Given the description of an element on the screen output the (x, y) to click on. 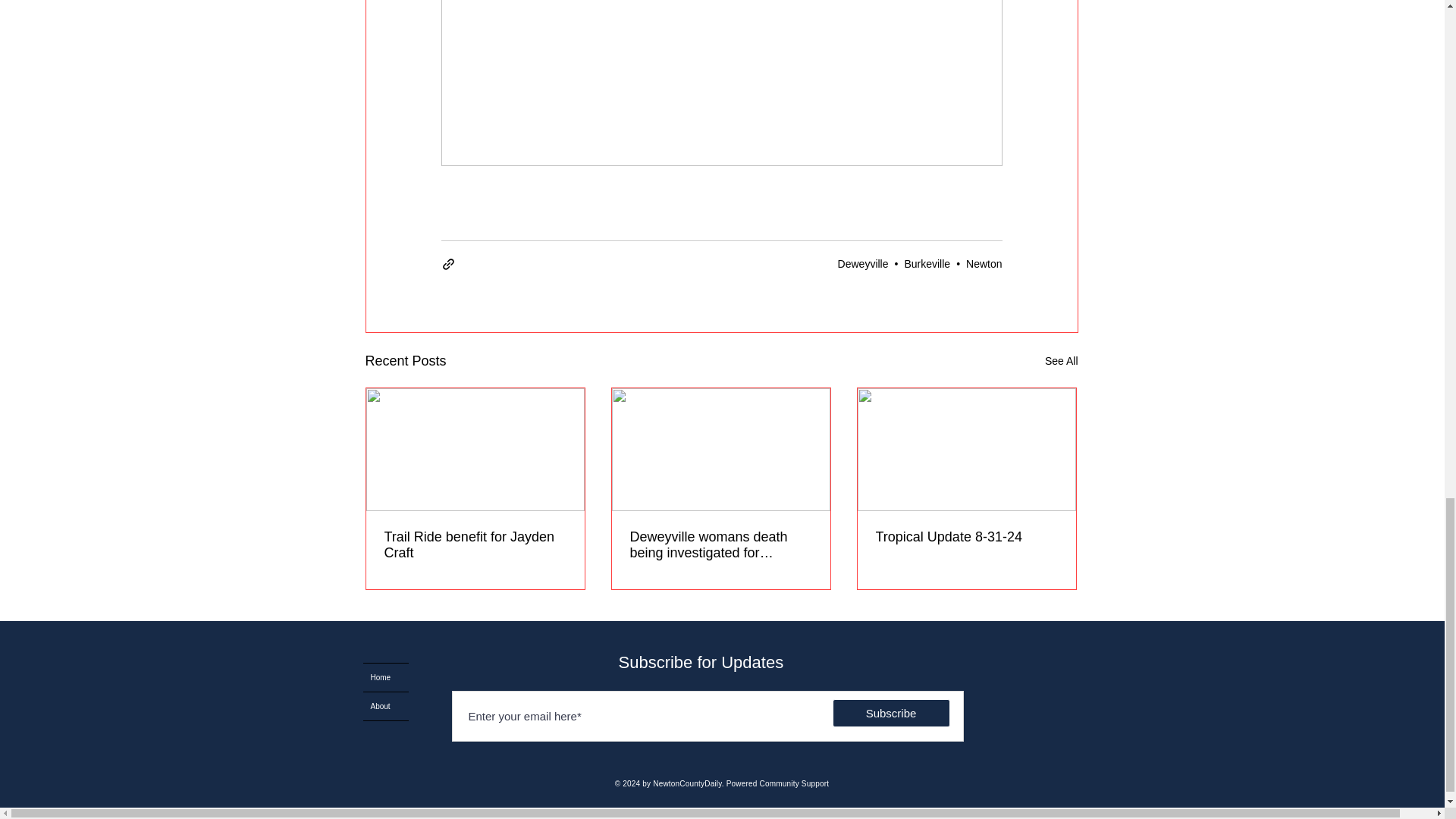
Subscribe (891, 713)
Tropical Update 8-31-24 (966, 537)
Newton (983, 263)
About (384, 706)
Burkeville (927, 263)
Home (384, 677)
Trail Ride benefit for Jayden Craft (475, 545)
Deweyville (863, 263)
See All (1061, 361)
